Given the description of an element on the screen output the (x, y) to click on. 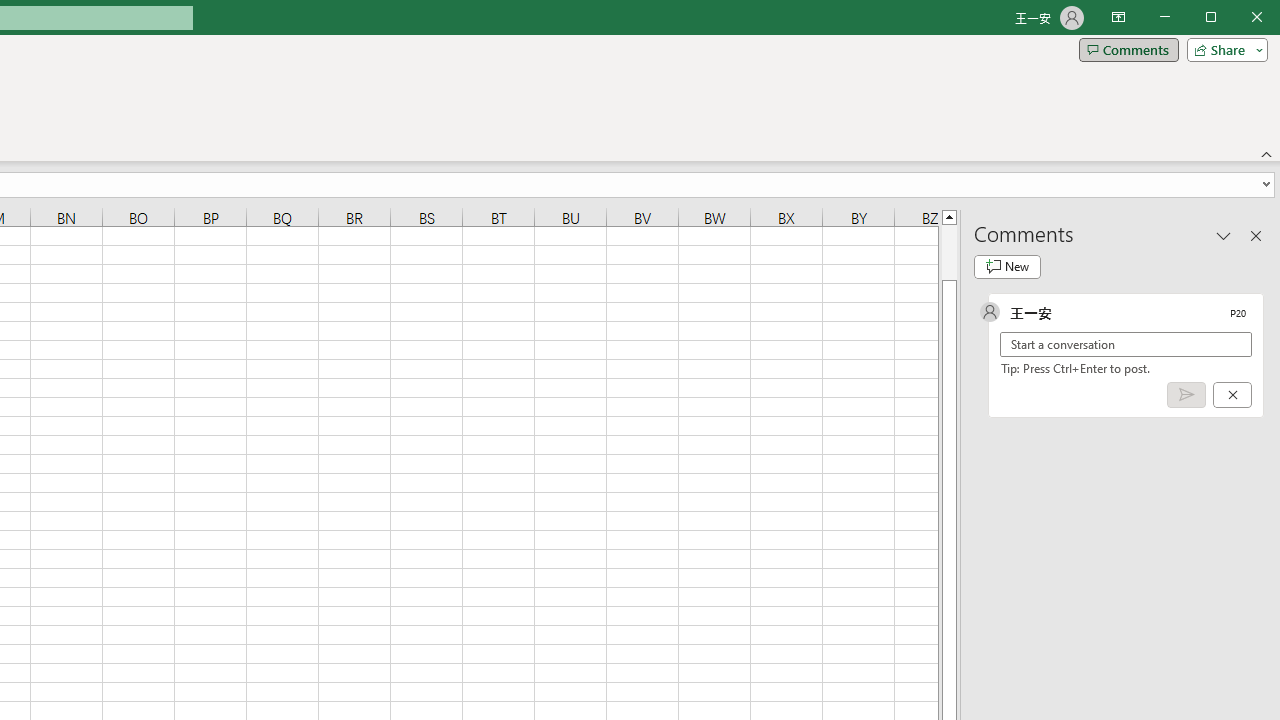
Page up (948, 252)
Start a conversation (1126, 344)
Cancel (1232, 395)
Post comment (Ctrl + Enter) (1186, 395)
New comment (1007, 266)
